Given the description of an element on the screen output the (x, y) to click on. 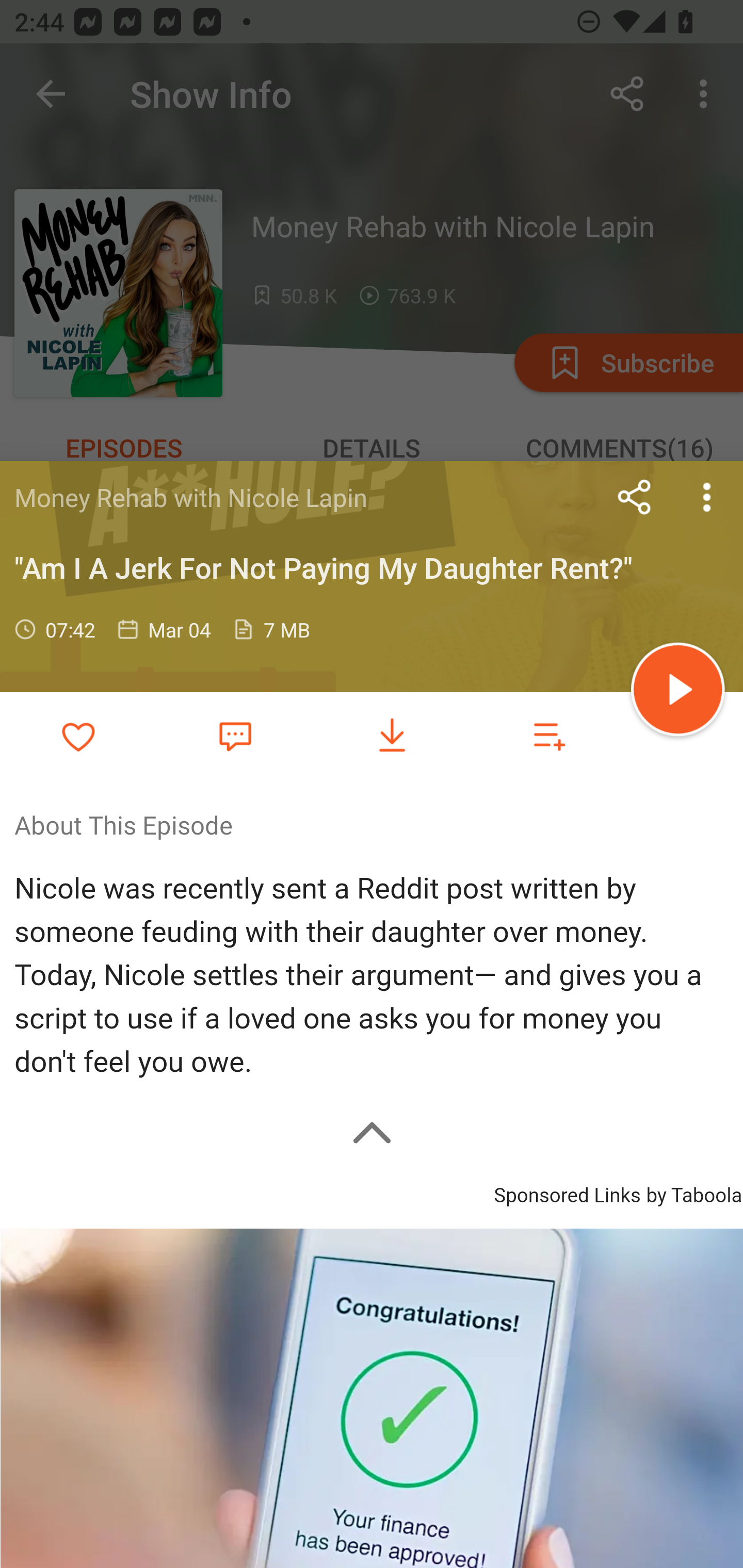
Share (634, 496)
more options (706, 496)
Play (677, 692)
Favorite (234, 735)
Add to Favorites (78, 735)
Download (391, 735)
Add to playlist (548, 735)
Sponsored Links (566, 1193)
by Taboola (693, 1193)
Need Cash? Secure Personal Loans Instantly (371, 1397)
